Given the description of an element on the screen output the (x, y) to click on. 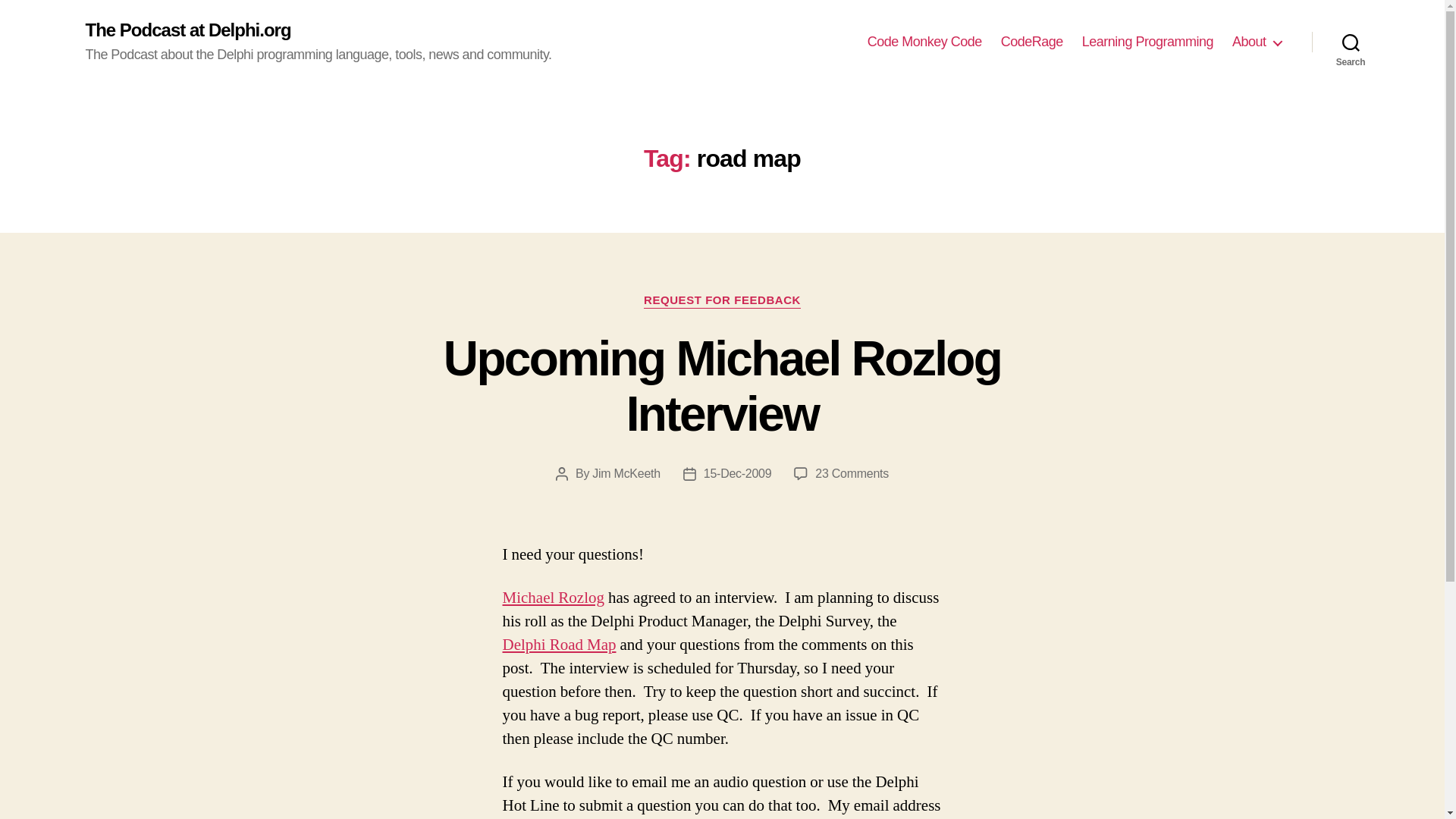
Learning Programming (1146, 42)
Michael Rozlog (553, 598)
Search (851, 472)
15-Dec-2009 (1350, 41)
Code Monkey Code (737, 472)
CodeRage (924, 42)
Jim McKeeth (1031, 42)
Upcoming Michael Rozlog Interview (626, 472)
REQUEST FOR FEEDBACK (722, 386)
